Given the description of an element on the screen output the (x, y) to click on. 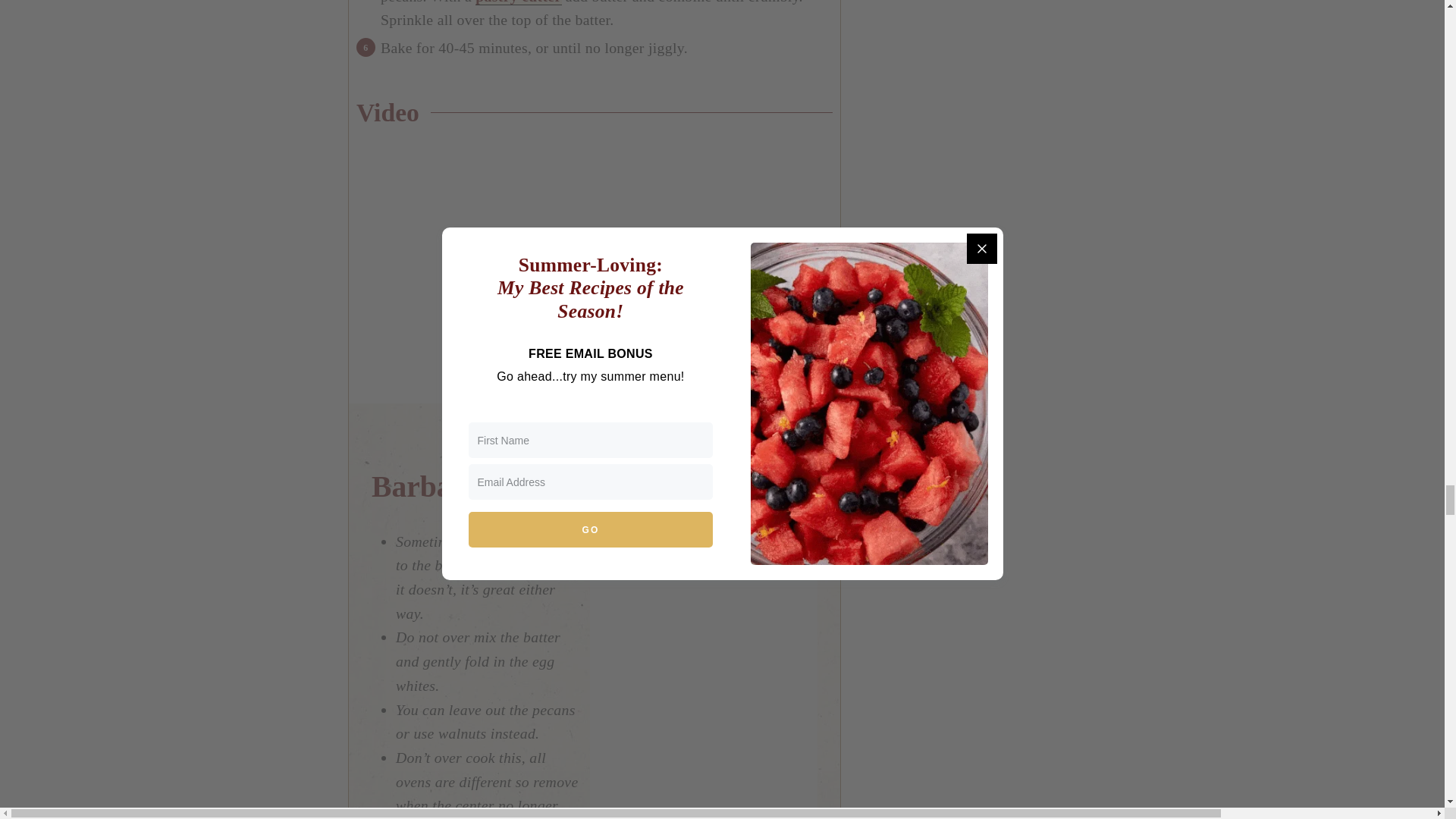
YouTube video player (568, 260)
